Given the description of an element on the screen output the (x, y) to click on. 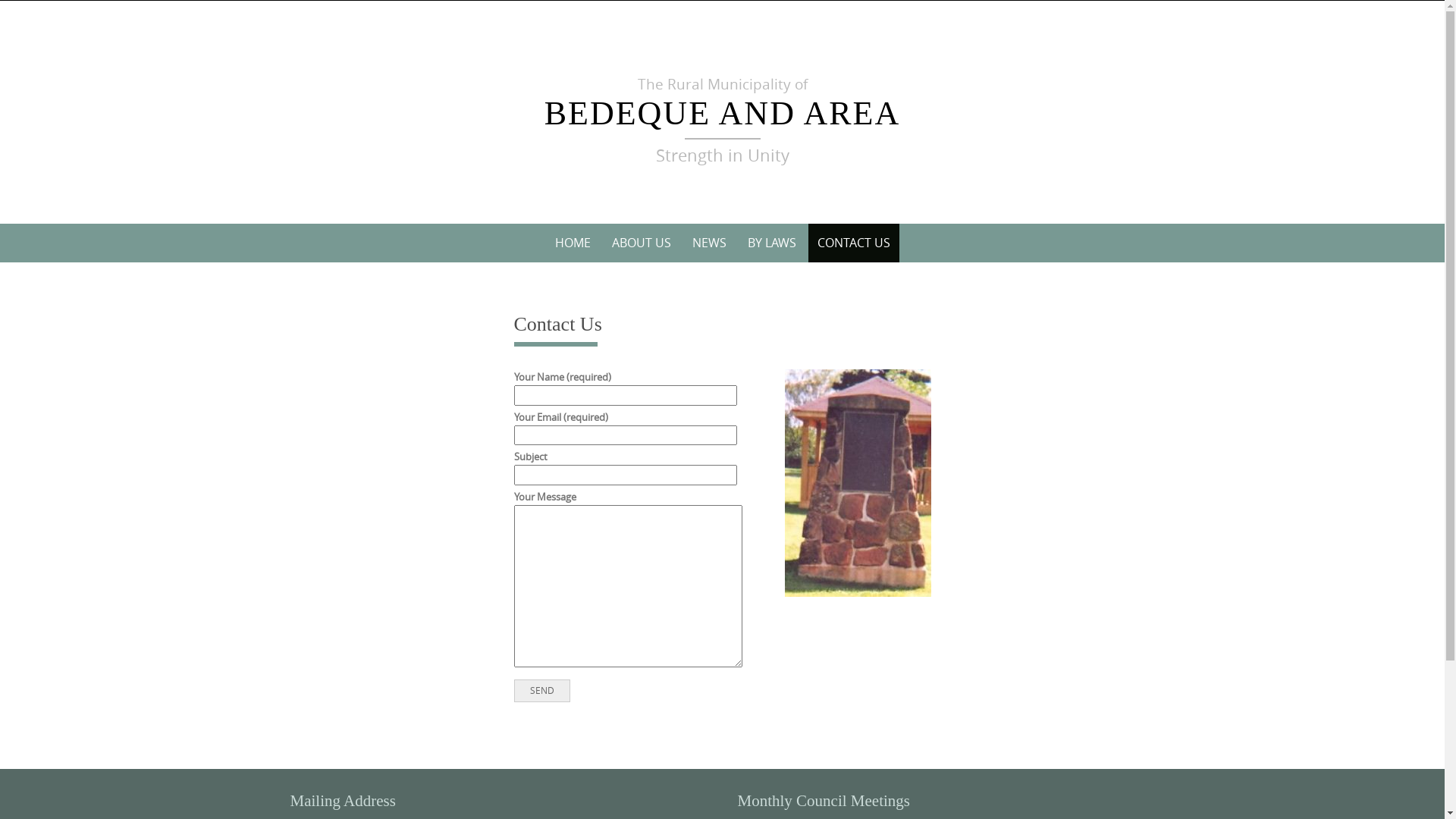
CONTACT US Element type: text (853, 242)
ABOUT US Element type: text (640, 242)
BY LAWS Element type: text (771, 242)
HOME Element type: text (572, 242)
BEDEQUE AND AREA Element type: text (722, 112)
NEWS Element type: text (708, 242)
Skip to content Element type: text (274, 222)
Send Element type: text (542, 690)
